Given the description of an element on the screen output the (x, y) to click on. 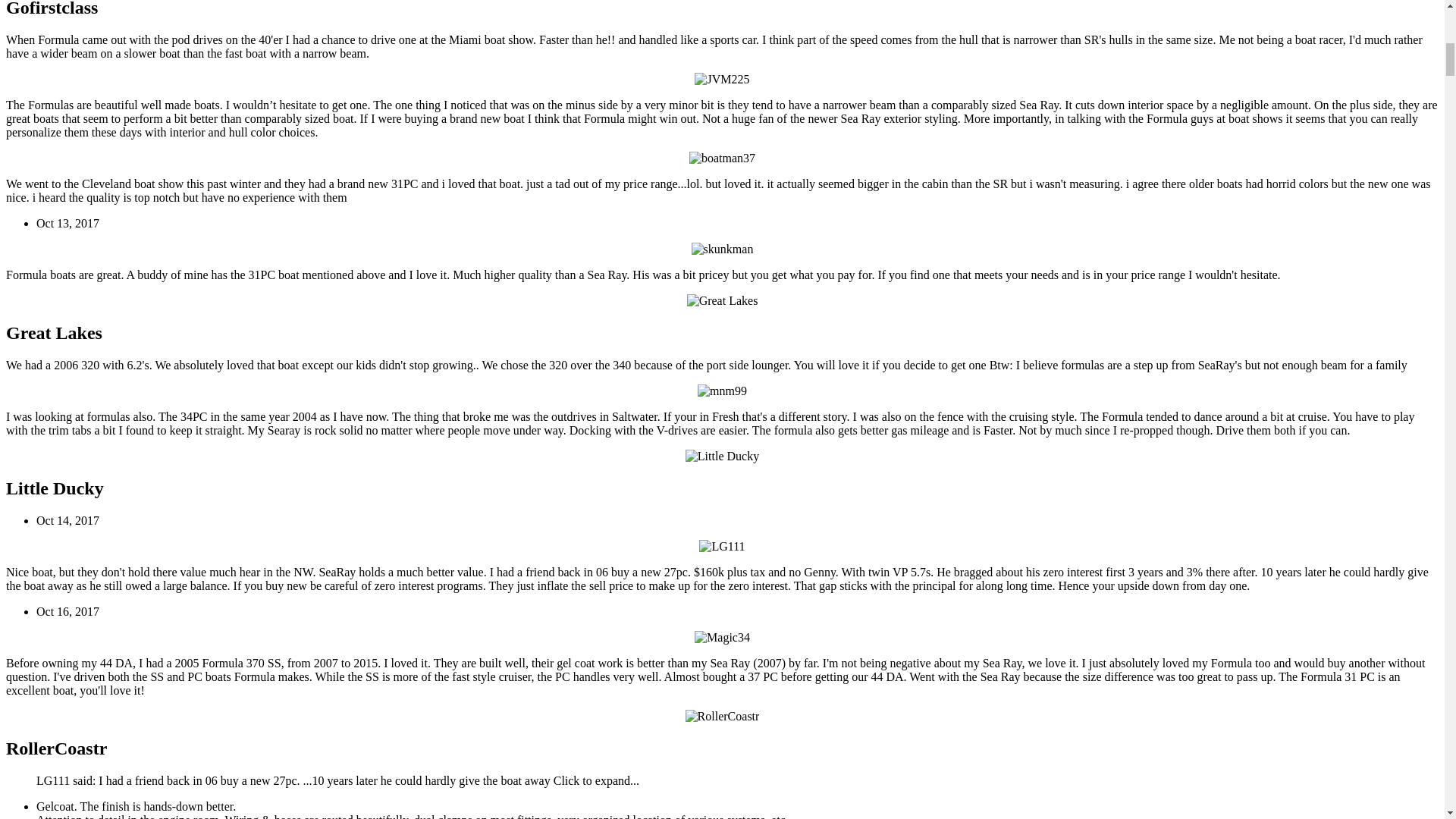
cruisers yachts vs formula (721, 546)
cruisers yachts vs formula (721, 637)
cruisers yachts vs formula (722, 249)
cruisers yachts vs formula (721, 391)
cruisers yachts vs formula (722, 716)
cruisers yachts vs formula (721, 79)
cruisers yachts vs formula (721, 158)
cruisers yachts vs formula (722, 300)
cruisers yachts vs formula (721, 456)
